Given the description of an element on the screen output the (x, y) to click on. 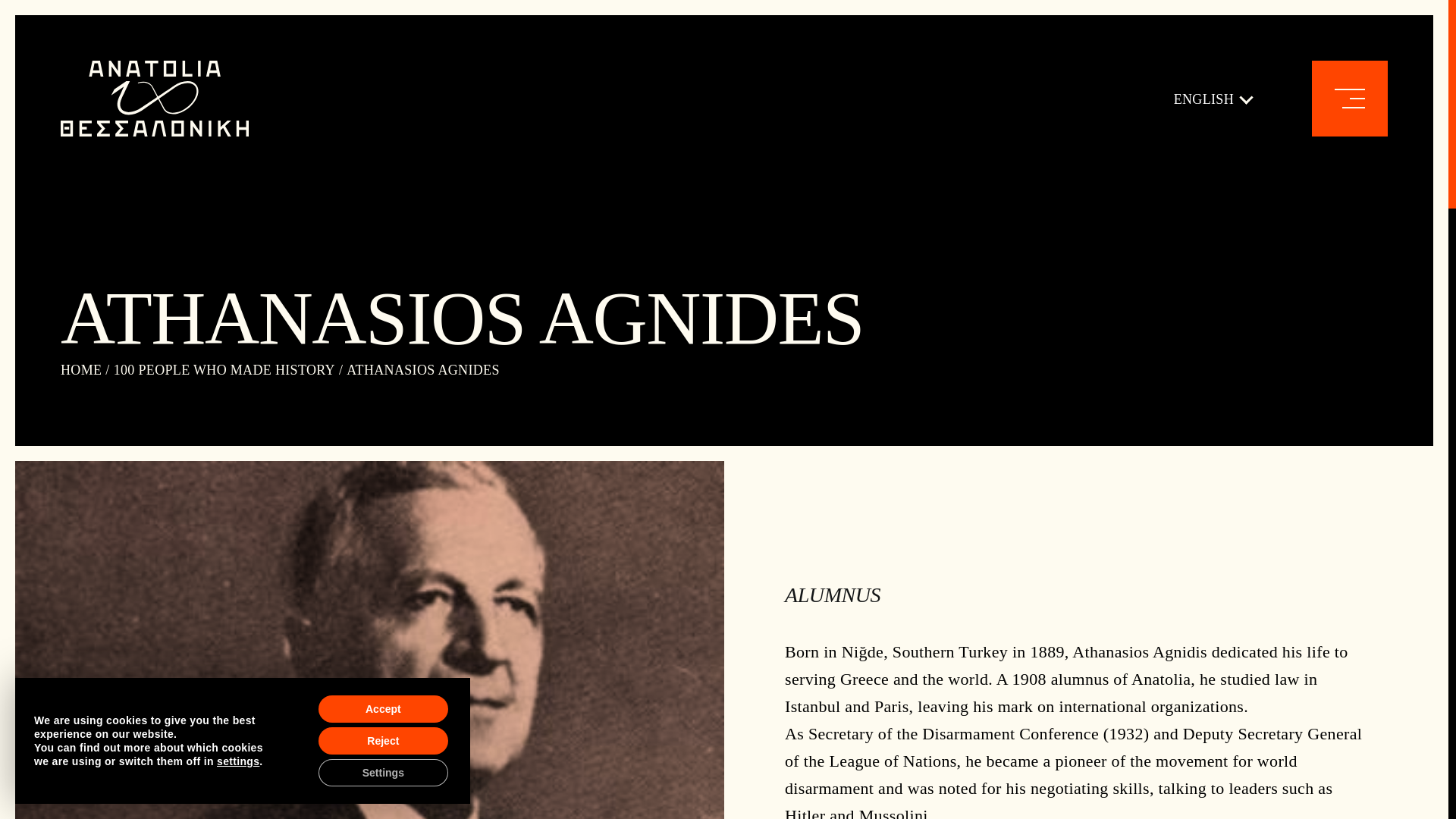
100 PEOPLE WHO MADE HISTORY (223, 369)
ENGLISH (1211, 98)
HOME (81, 369)
